Given the description of an element on the screen output the (x, y) to click on. 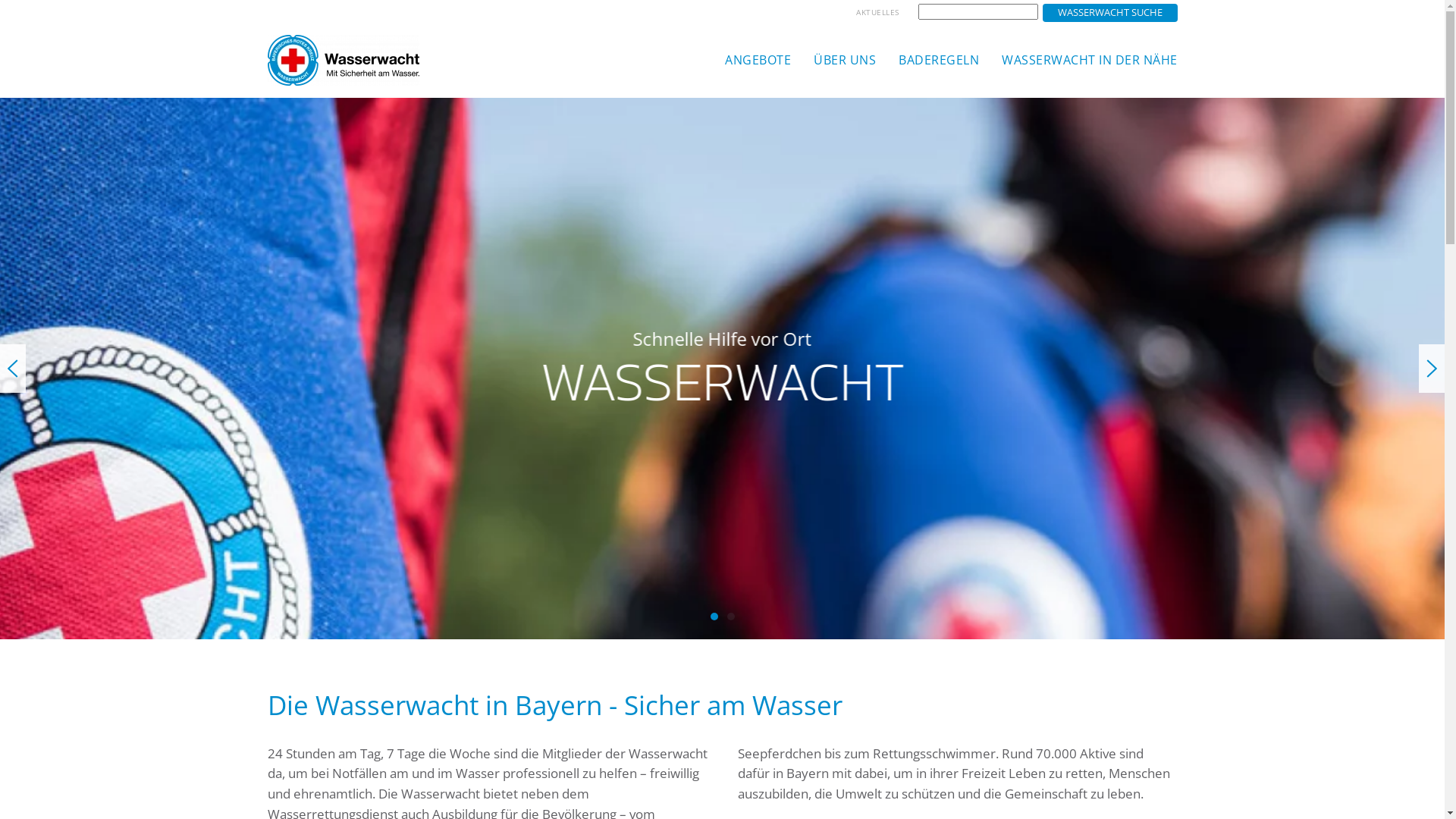
Wasserwacht Suche Element type: text (1108, 12)
ANGEBOTE Element type: text (757, 59)
Wasserwacht Element type: text (713, 617)
Wasserwacht Element type: text (730, 617)
BADEREGELN Element type: text (938, 59)
AKTUELLES Element type: text (877, 12)
